Given the description of an element on the screen output the (x, y) to click on. 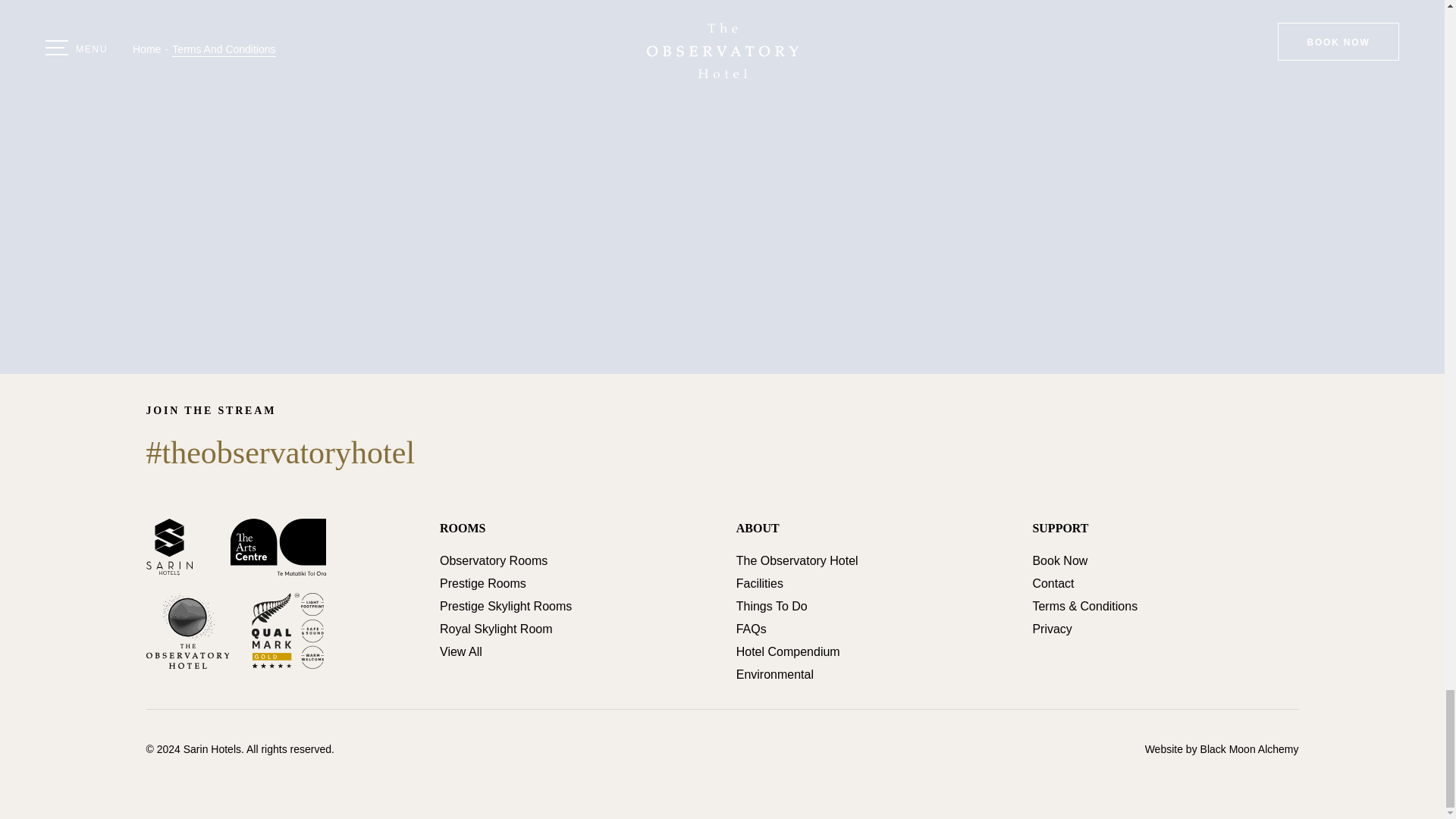
ROOMS (461, 528)
